Given the description of an element on the screen output the (x, y) to click on. 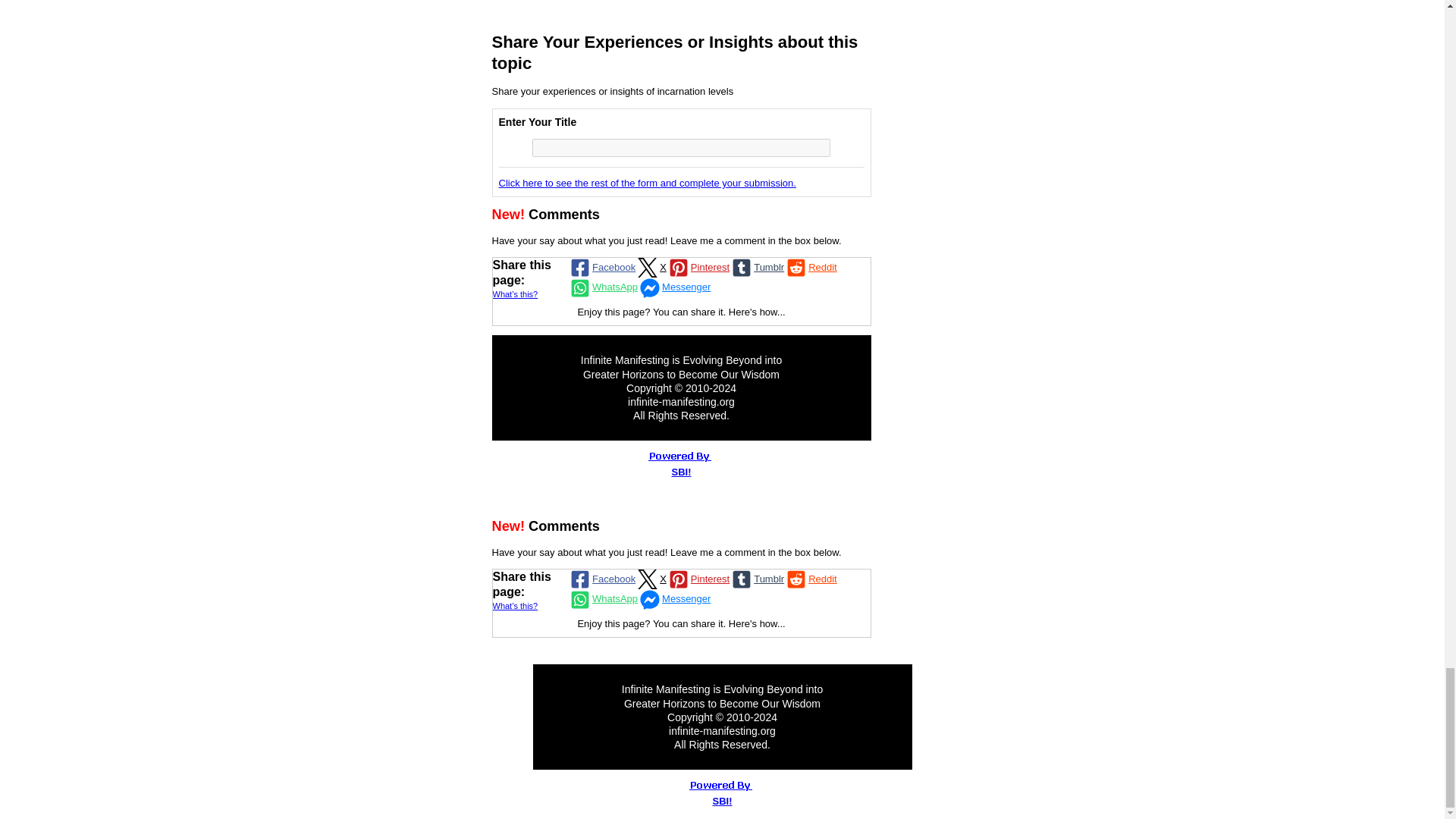
Messenger (673, 598)
Reddit (810, 267)
Tumblr (756, 267)
SBI! (681, 471)
Pinterest (697, 267)
Messenger (673, 287)
WhatsApp (602, 287)
Facebook (600, 267)
X (650, 579)
